Given the description of an element on the screen output the (x, y) to click on. 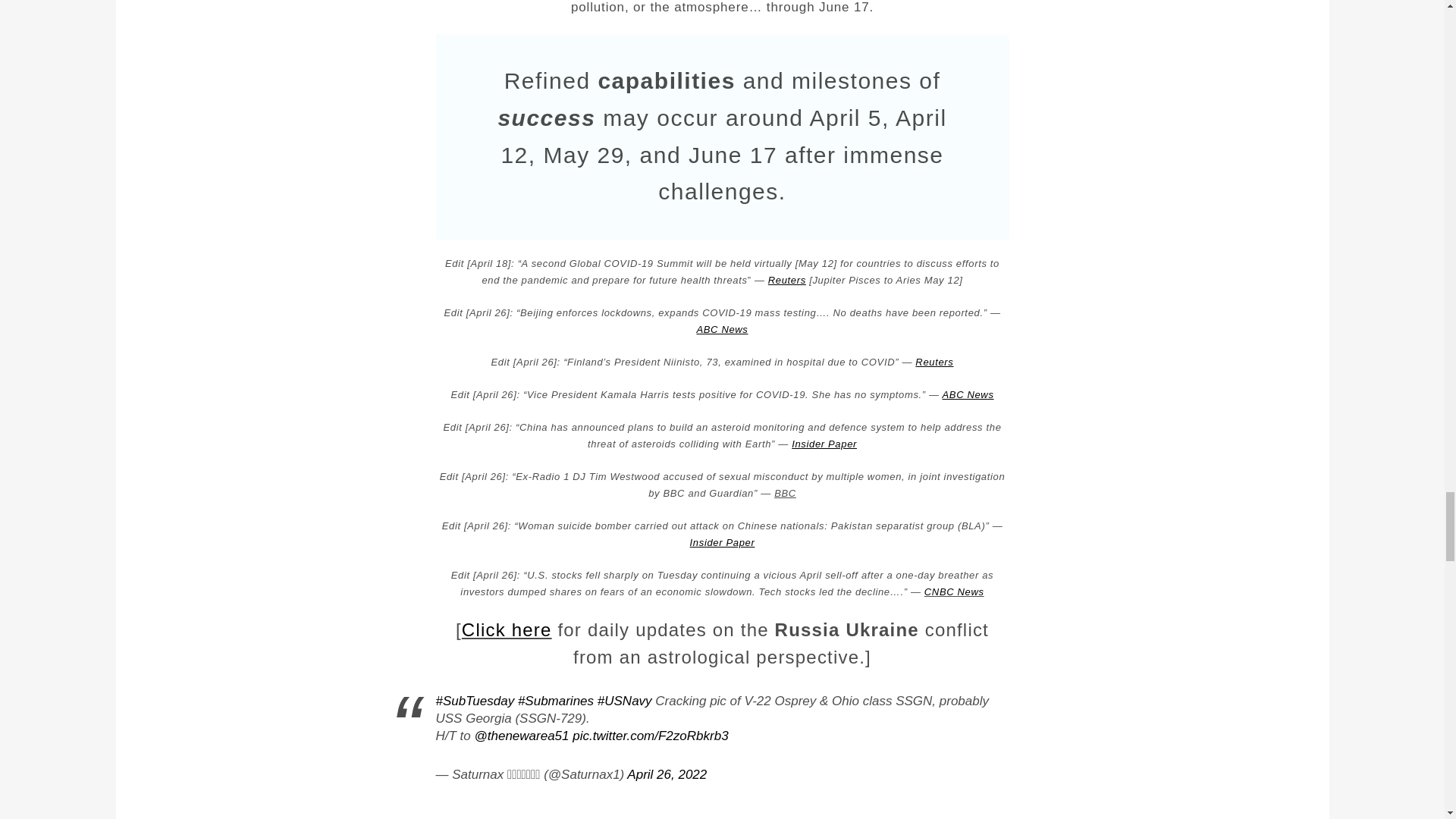
April 26, 2022 (666, 774)
Reuters (934, 361)
Reuters (787, 279)
Click here (506, 629)
Insider Paper (824, 443)
ABC News (967, 394)
Insider Paper (722, 542)
ABC News (721, 328)
CNBC News (954, 591)
